Given the description of an element on the screen output the (x, y) to click on. 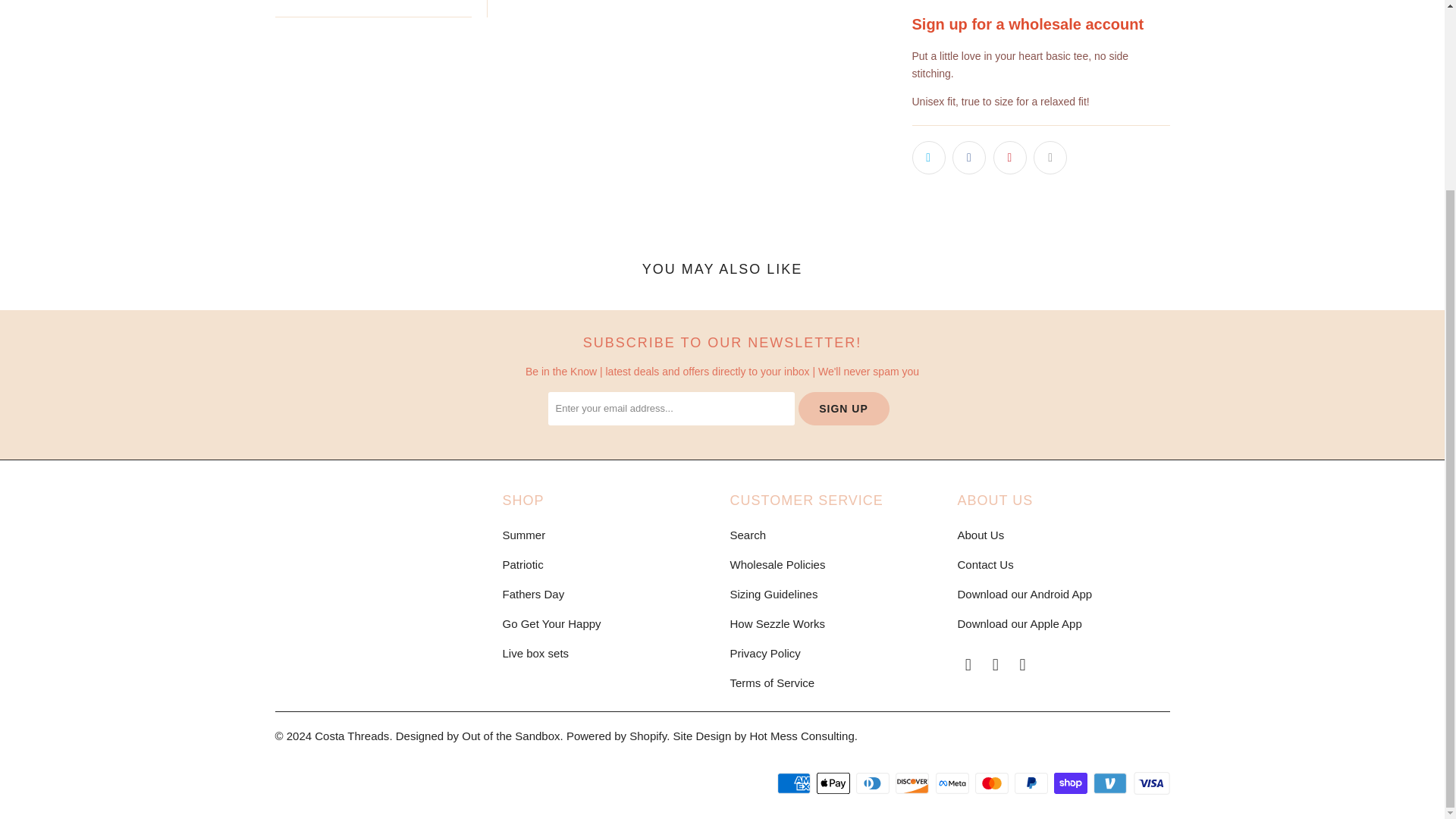
Venmo (1111, 783)
American Express (795, 783)
Mastercard (993, 783)
Apple Pay (834, 783)
Share this on Pinterest (1009, 157)
Share this on Facebook (968, 157)
Email this to a friend (1050, 157)
Sign Up (842, 408)
Email Costa Threads (1022, 665)
Costa Threads on Instagram (995, 665)
